Given the description of an element on the screen output the (x, y) to click on. 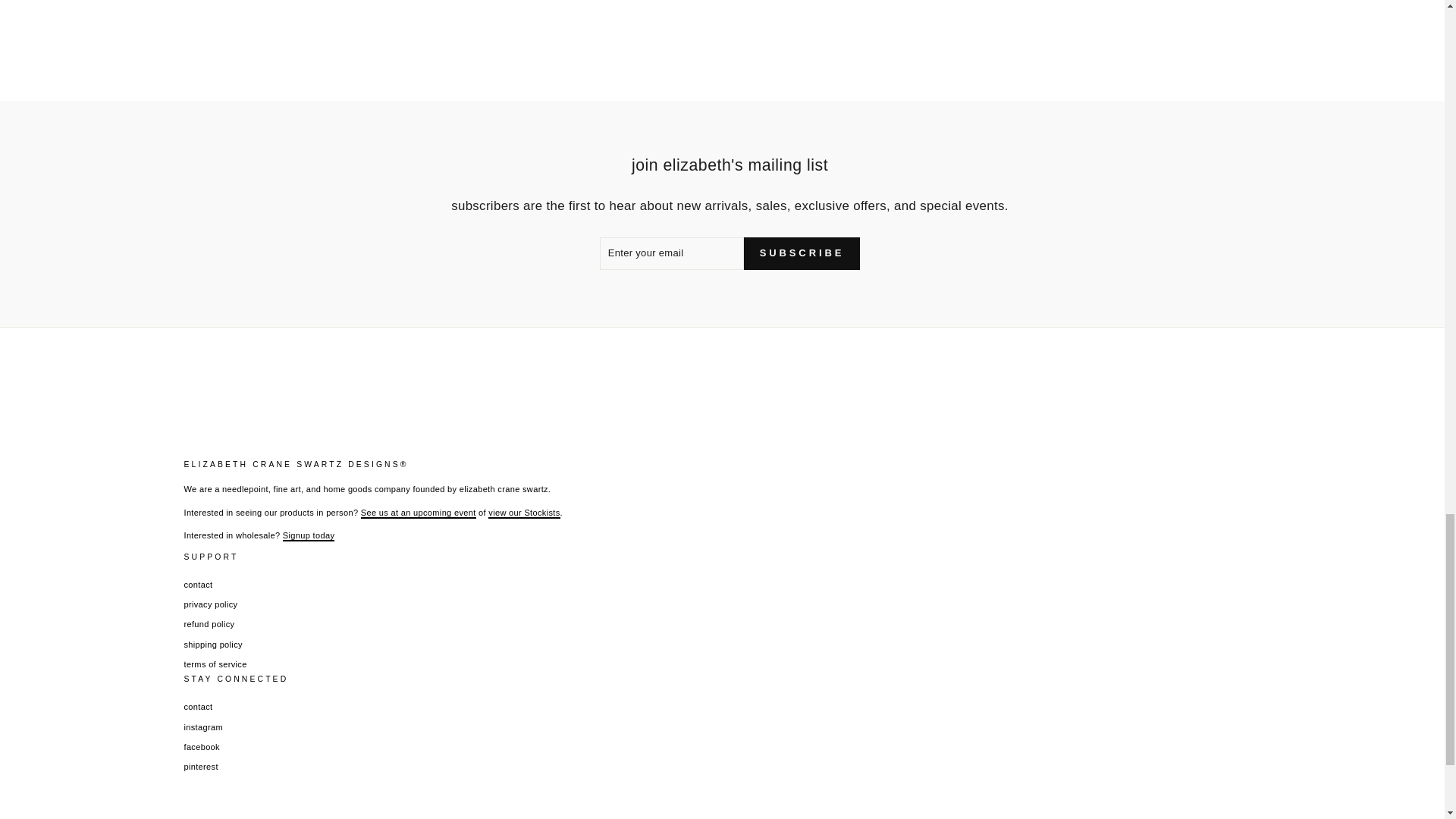
events (418, 512)
stockists (523, 512)
